Given the description of an element on the screen output the (x, y) to click on. 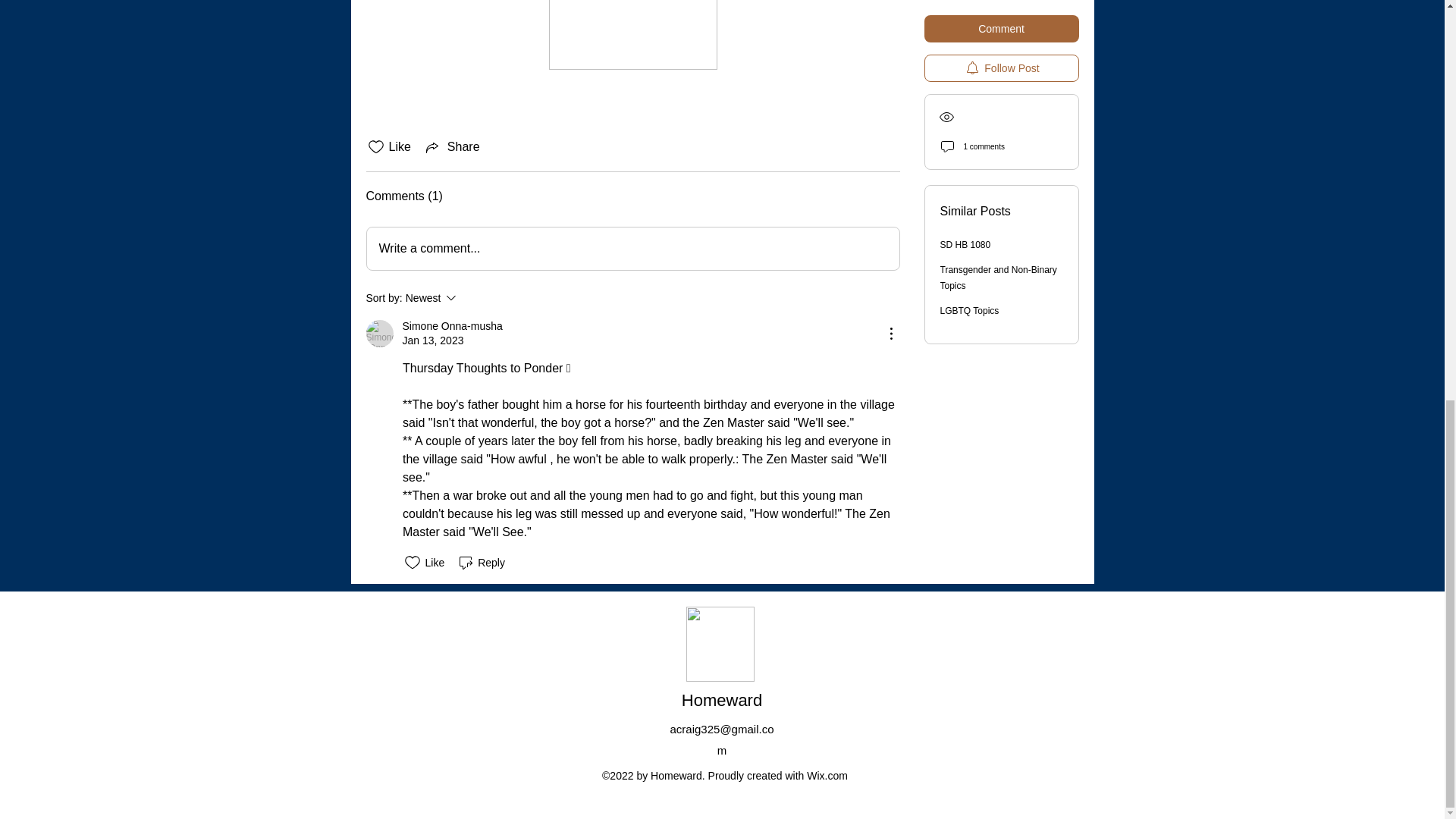
Share (451, 147)
Reply (481, 562)
Simone Onna-musha  (379, 333)
Simone Onna-musha (451, 326)
Write a comment... (471, 298)
Homeward Logo no Back.png (632, 248)
